Given the description of an element on the screen output the (x, y) to click on. 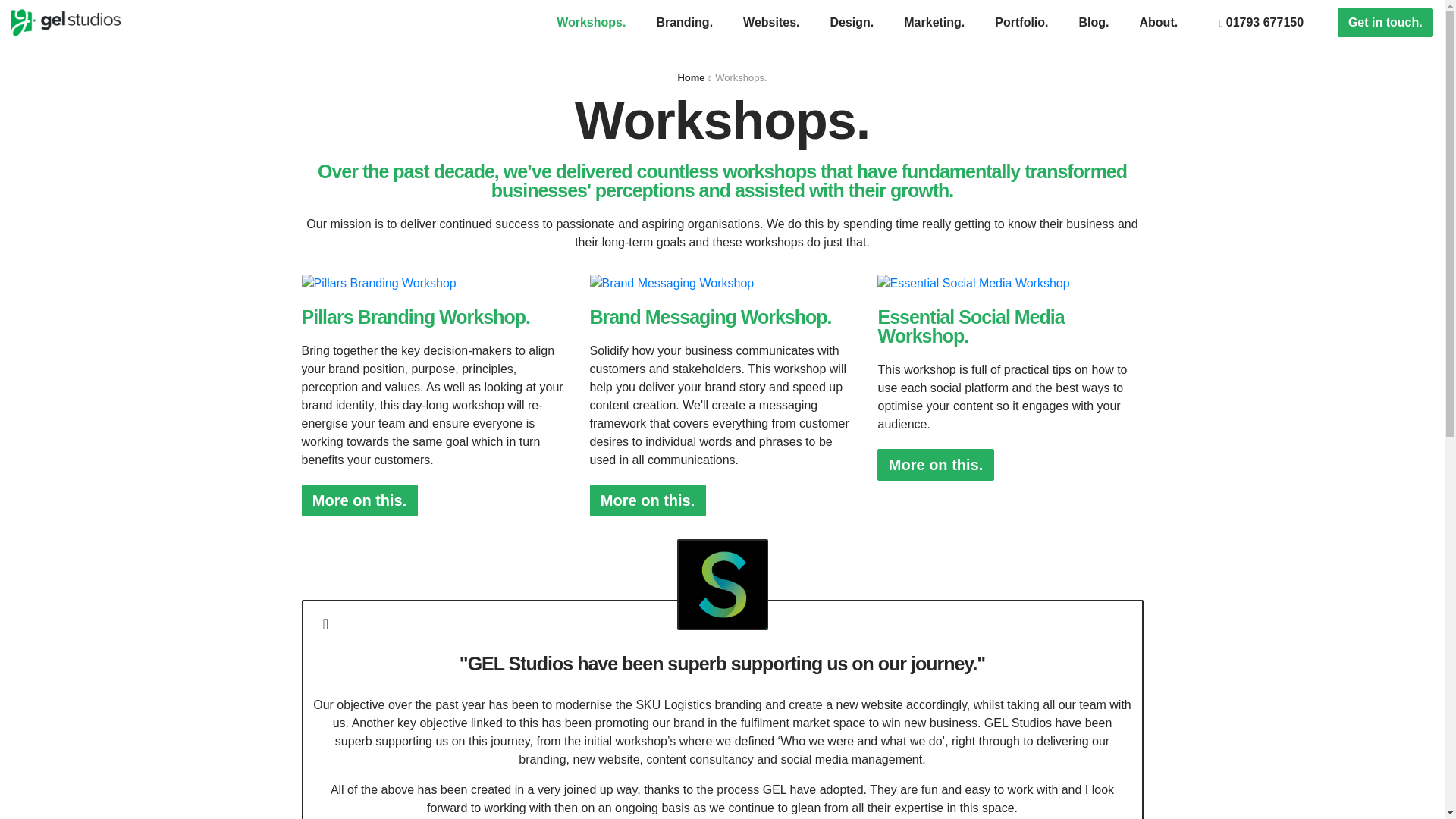
Branding. (684, 22)
Design. (850, 22)
Workshops. (590, 22)
Portfolio. (1020, 22)
Get in touch. (1385, 22)
Blog. (1094, 22)
About. (1158, 22)
Marketing. (933, 22)
Websites. (770, 22)
01793 677150 (1261, 22)
